Given the description of an element on the screen output the (x, y) to click on. 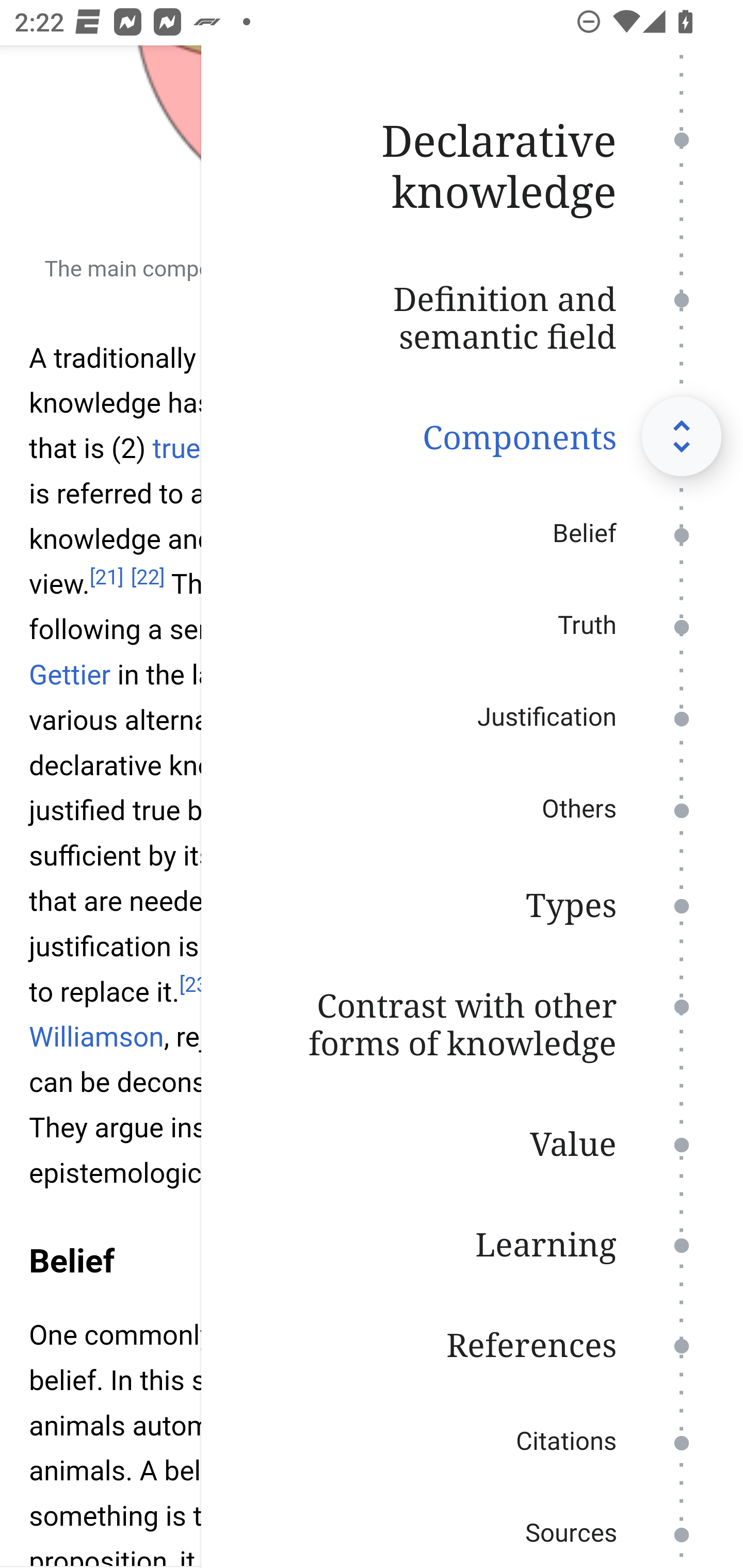
Declarative knowledge (472, 164)
Definition and semantic field (472, 316)
Components (472, 435)
Belief (472, 532)
Truth (472, 623)
Justification (472, 715)
Others (472, 807)
Types (472, 903)
Contrast with other forms of knowledge (472, 1023)
Value (472, 1142)
Learning (472, 1243)
References (472, 1343)
Citations (472, 1439)
Sources (472, 1527)
